Given the description of an element on the screen output the (x, y) to click on. 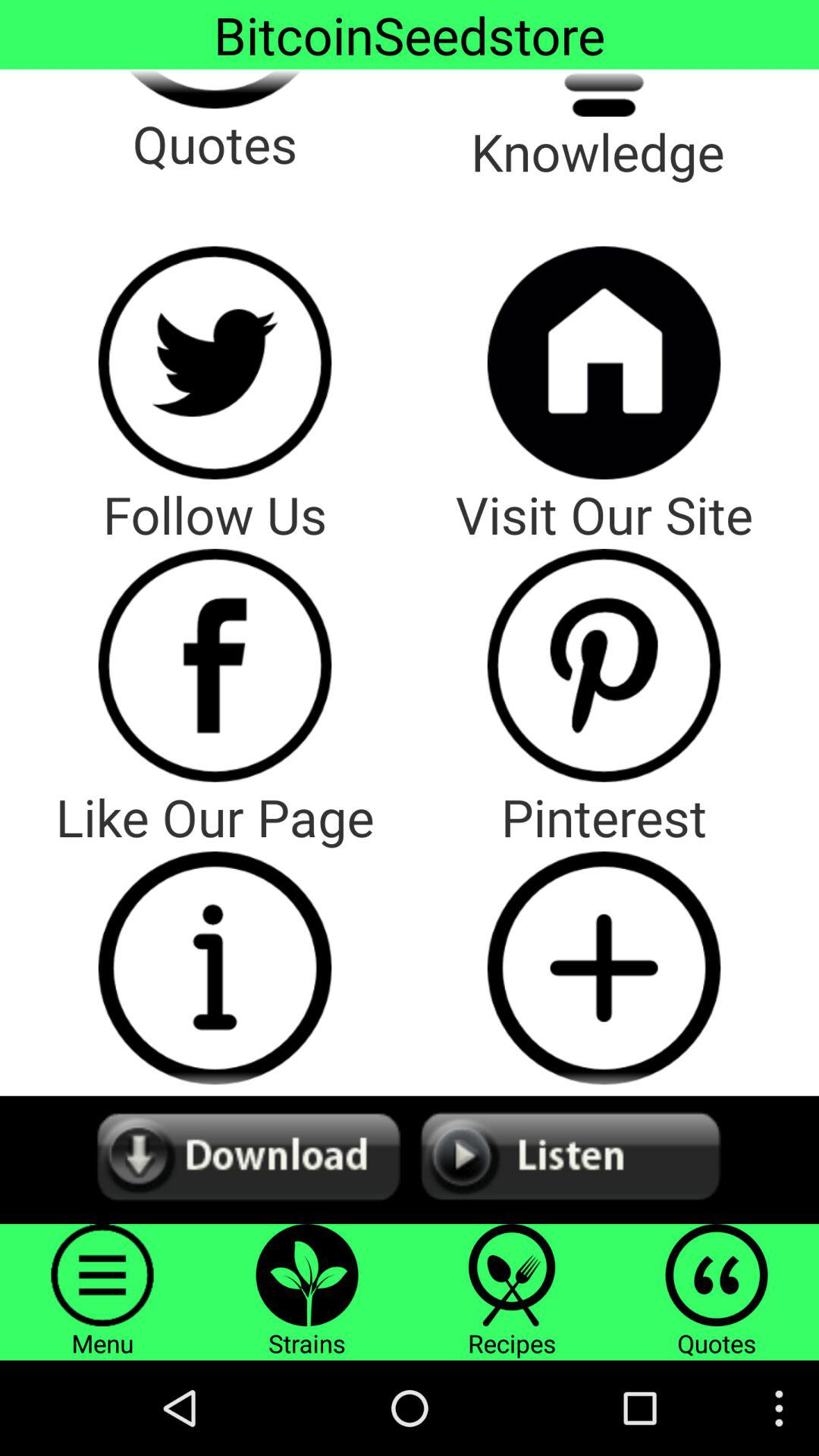
audio options (409, 1159)
